Given the description of an element on the screen output the (x, y) to click on. 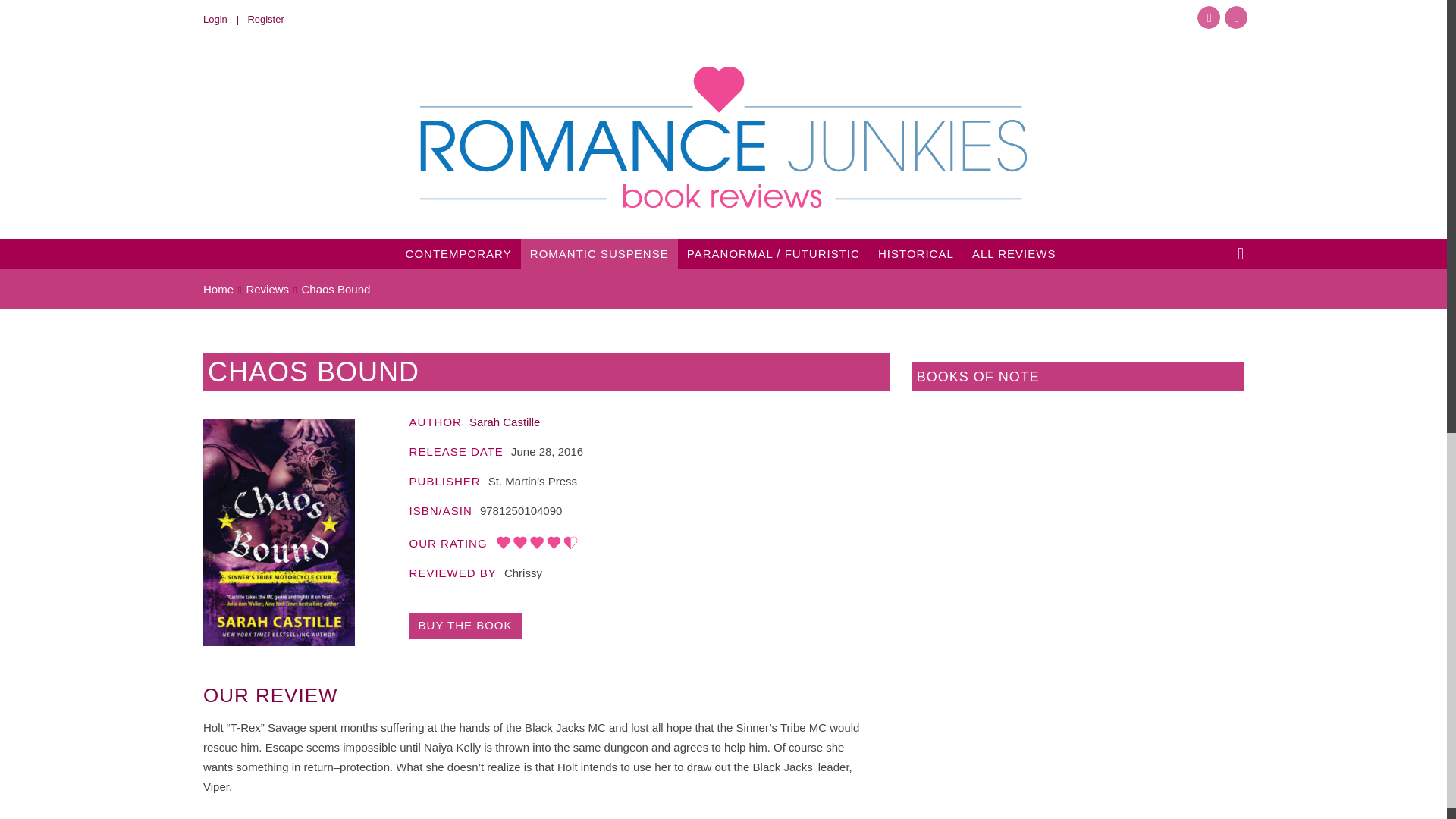
CONTEMPORARY (458, 254)
Facebook (1208, 16)
Romance Junkies (722, 136)
Reviews (267, 288)
ROMANTIC SUSPENSE (599, 254)
Follow Me on Twitter (1235, 16)
Twitter (1235, 16)
HISTORICAL (915, 254)
Home (217, 288)
ALL REVIEWS (1013, 254)
Sarah Castille (504, 421)
Login (225, 19)
Chaos Bound (465, 625)
BUY THE BOOK (465, 625)
Like Me on Facebook (1208, 16)
